Given the description of an element on the screen output the (x, y) to click on. 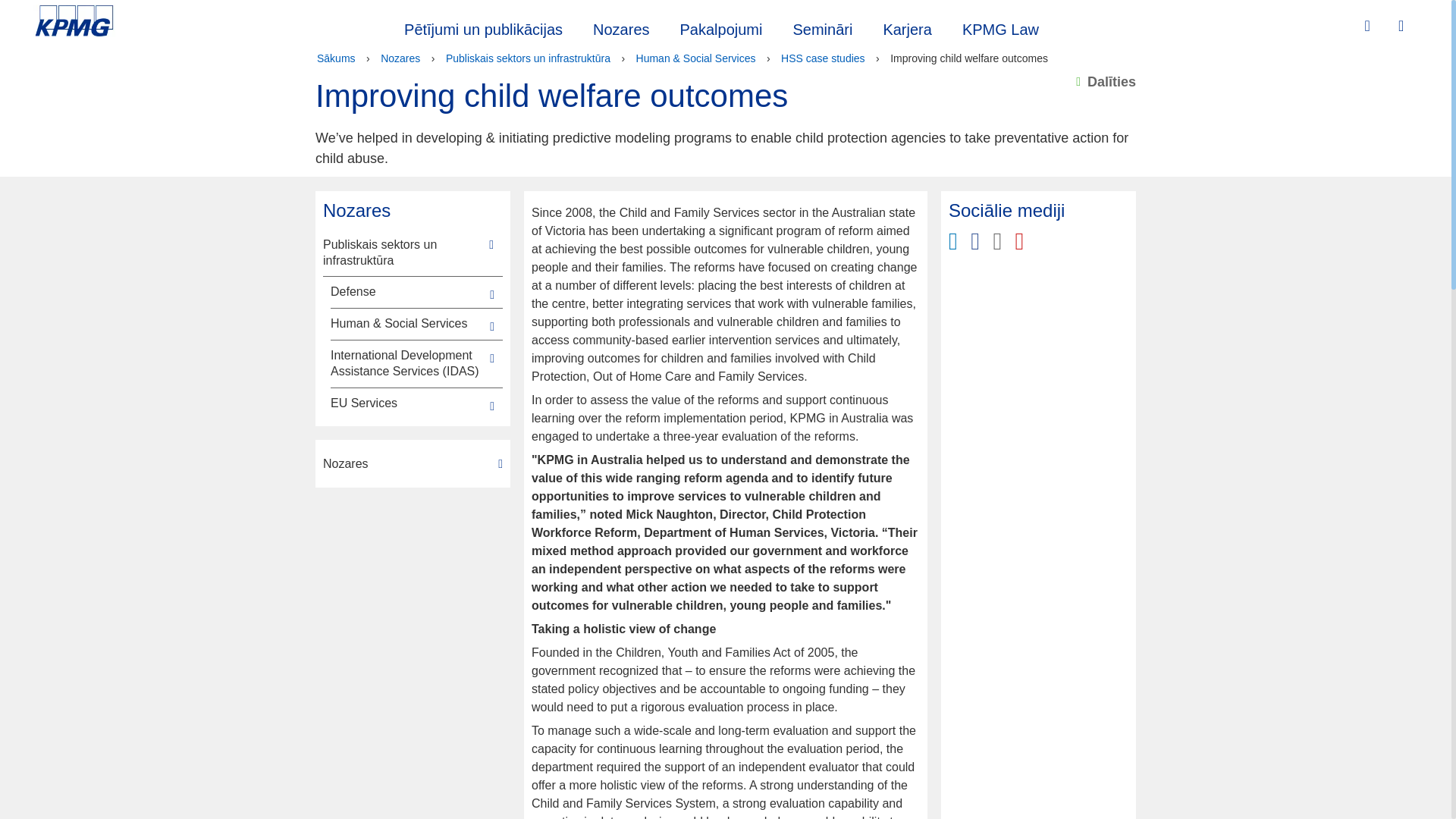
KPMG Law (1000, 27)
HSS case studies (822, 58)
Defense (407, 292)
Karjera (906, 27)
Site Selector (1402, 26)
Search (1369, 26)
Nozares (400, 58)
Nozares (620, 27)
Nozares (412, 463)
Pakalpojumi (721, 27)
